Given the description of an element on the screen output the (x, y) to click on. 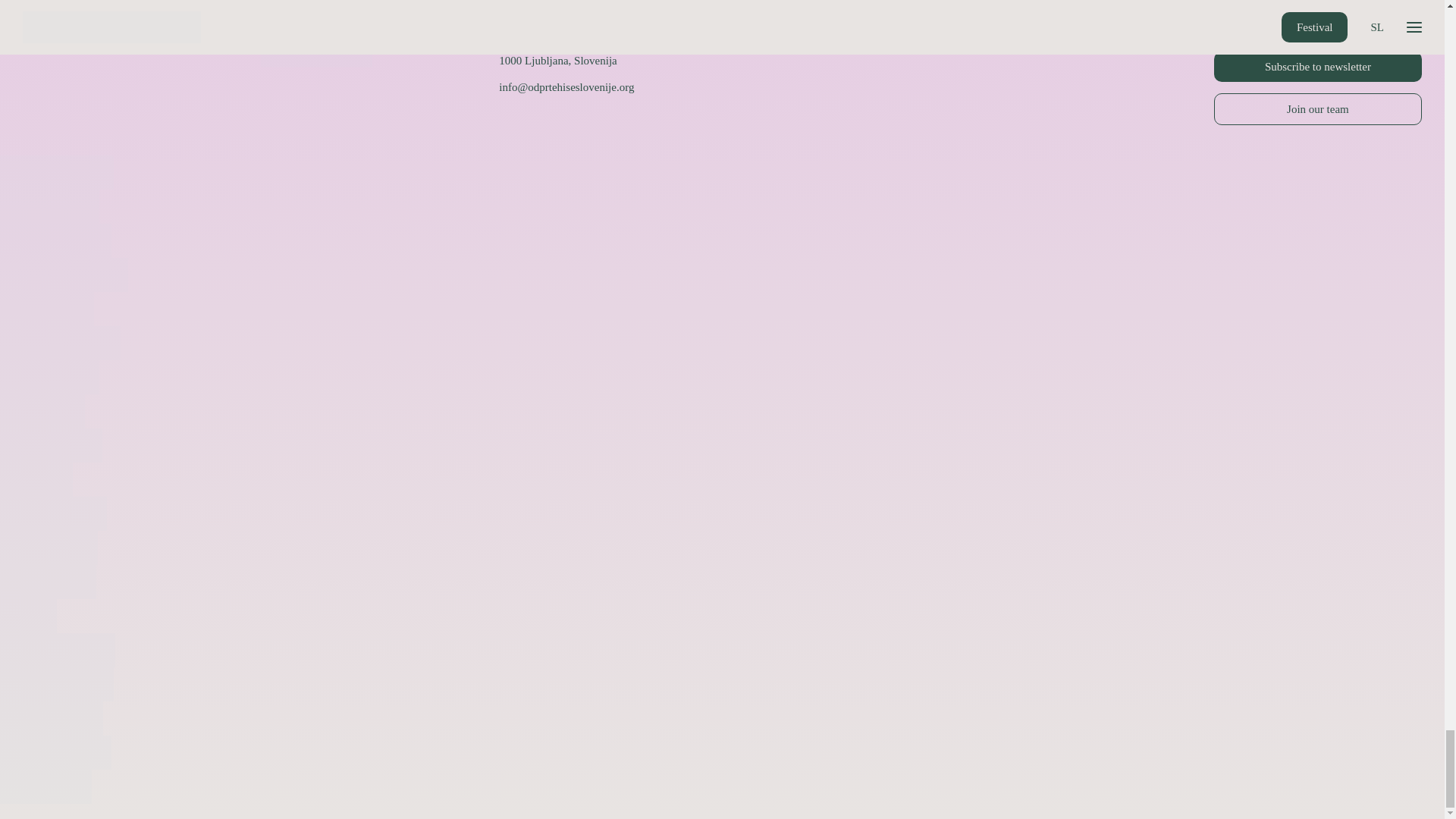
Youtube (1401, 21)
Facebook (1234, 21)
Linkedin (1345, 21)
Instagram (1289, 21)
